Given the description of an element on the screen output the (x, y) to click on. 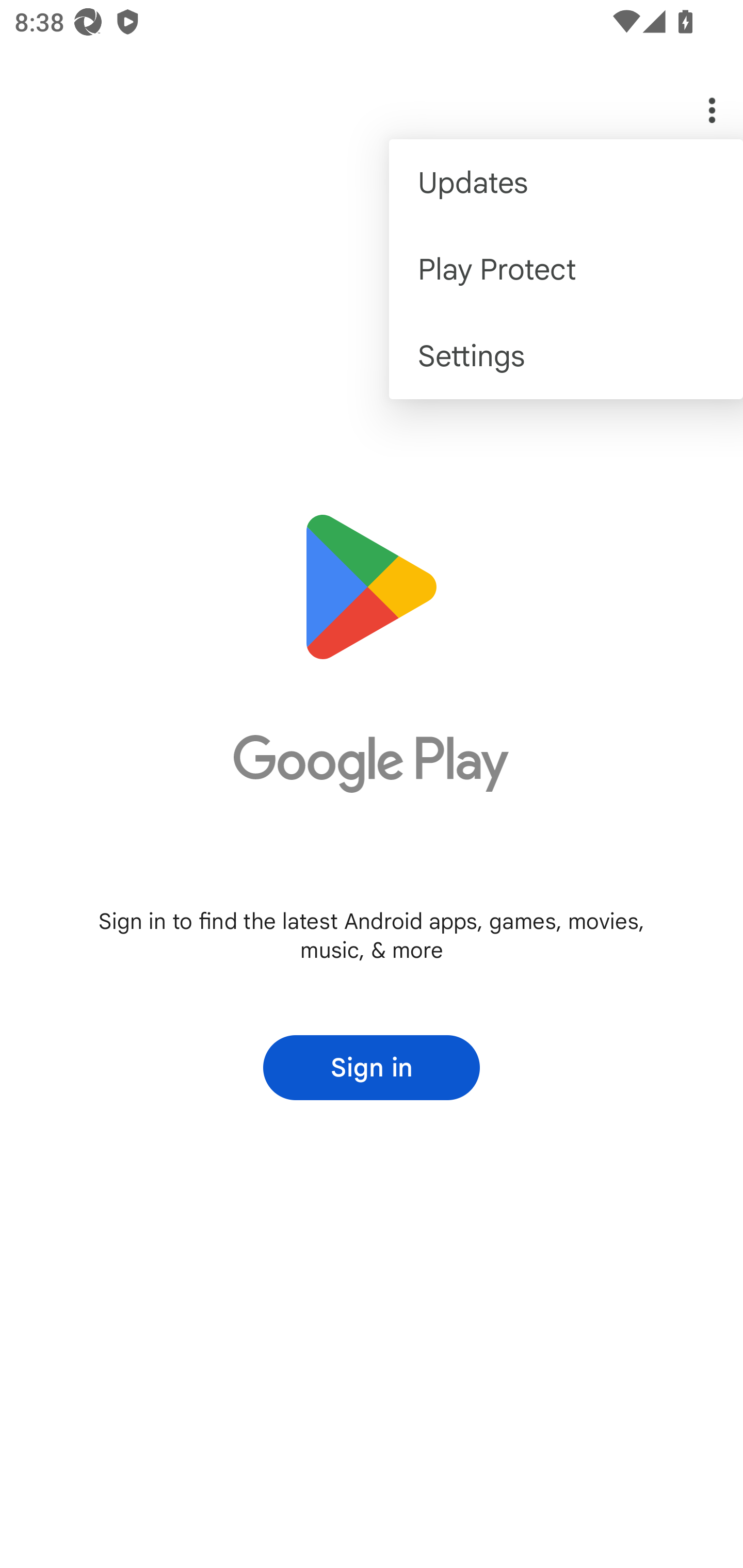
Updates (566, 182)
Play Protect (566, 268)
Settings (566, 355)
